Given the description of an element on the screen output the (x, y) to click on. 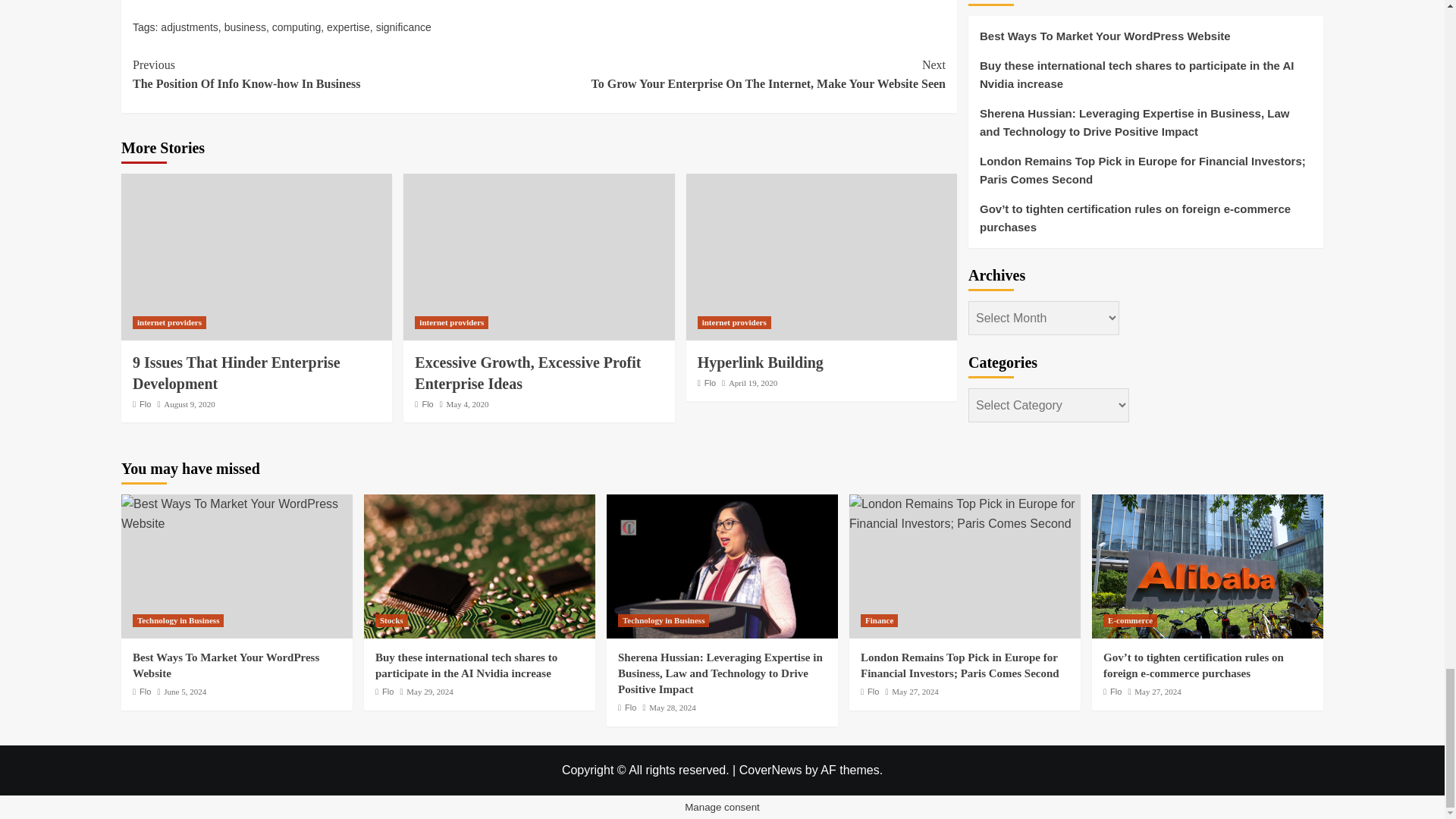
August 9, 2020 (335, 74)
expertise (189, 403)
Flo (347, 27)
business (427, 403)
computing (245, 27)
